Given the description of an element on the screen output the (x, y) to click on. 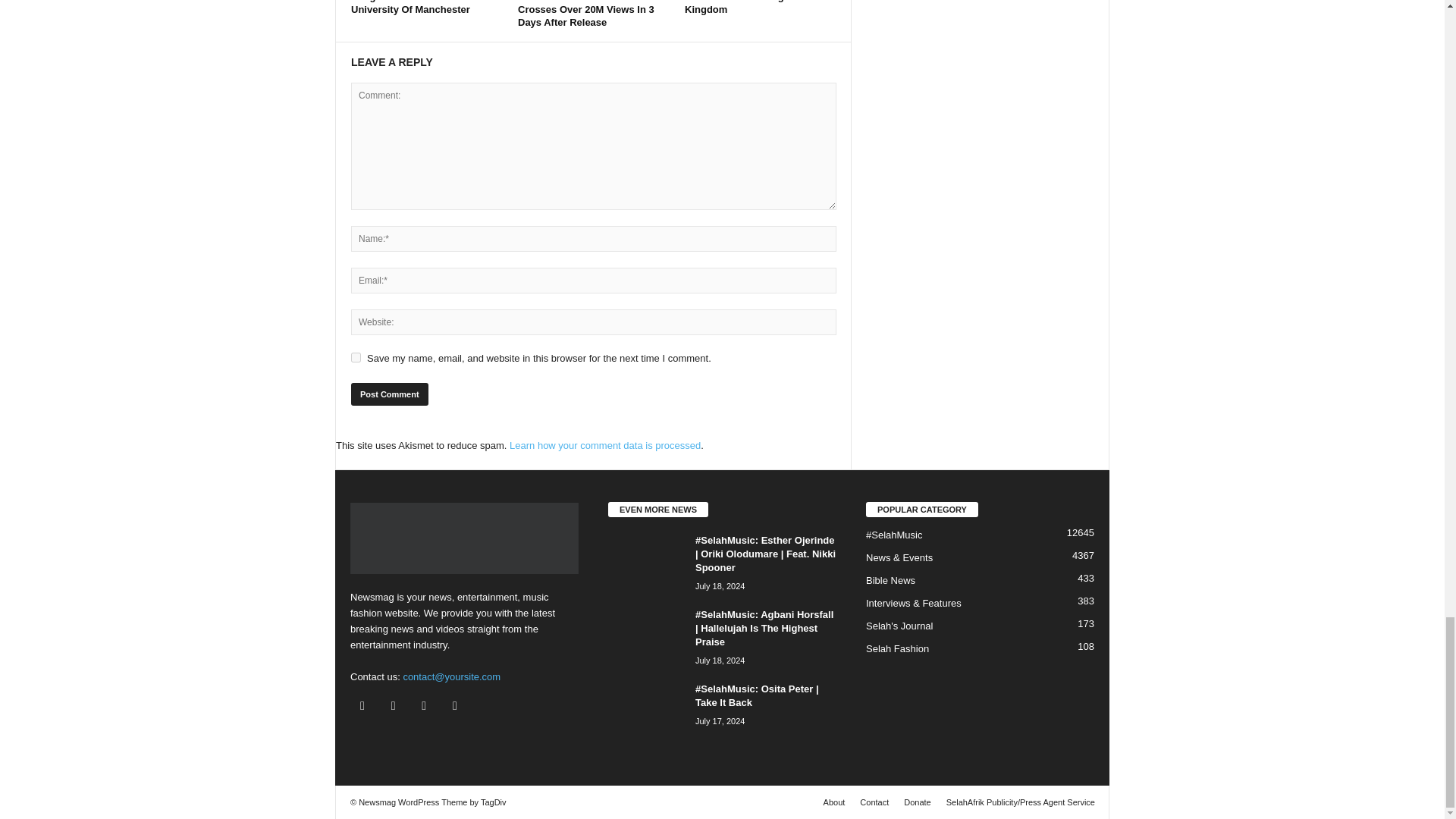
Post Comment (389, 394)
yes (355, 357)
